Given the description of an element on the screen output the (x, y) to click on. 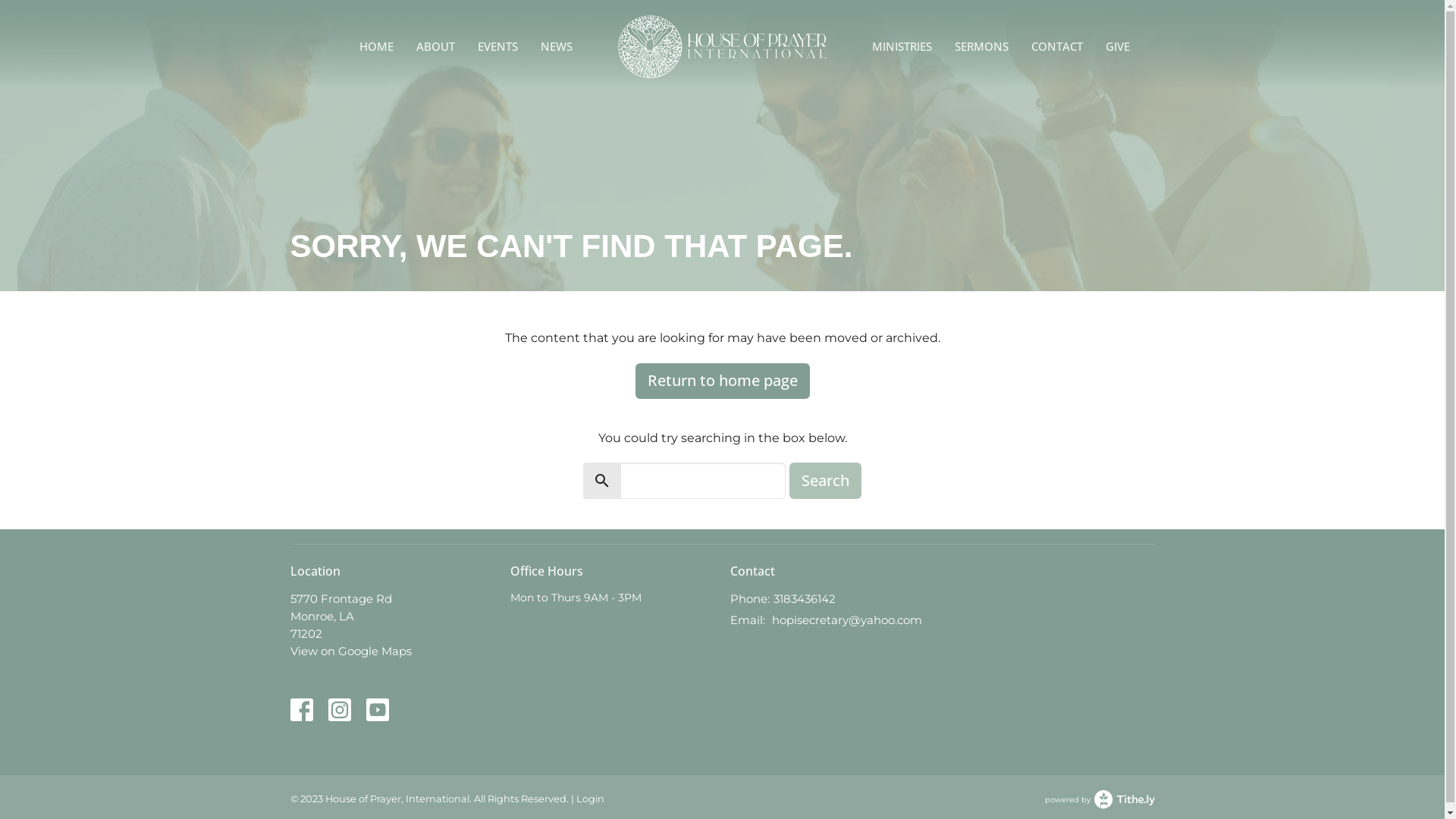
hopisecretary@yahoo.com Element type: text (846, 619)
3183436142 Element type: text (804, 598)
ABOUT Element type: text (435, 46)
EVENTS Element type: text (497, 46)
SERMONS Element type: text (981, 46)
Return to home page Element type: text (722, 380)
GIVE Element type: text (1117, 46)
Login Element type: text (590, 798)
Search Element type: text (825, 480)
View on Google Maps Element type: text (350, 650)
CONTACT Element type: text (1056, 46)
powered by
Website Developed by Tithely Element type: text (1099, 799)
HOME Element type: text (376, 46)
MINISTRIES Element type: text (901, 46)
NEWS Element type: text (556, 46)
